Given the description of an element on the screen output the (x, y) to click on. 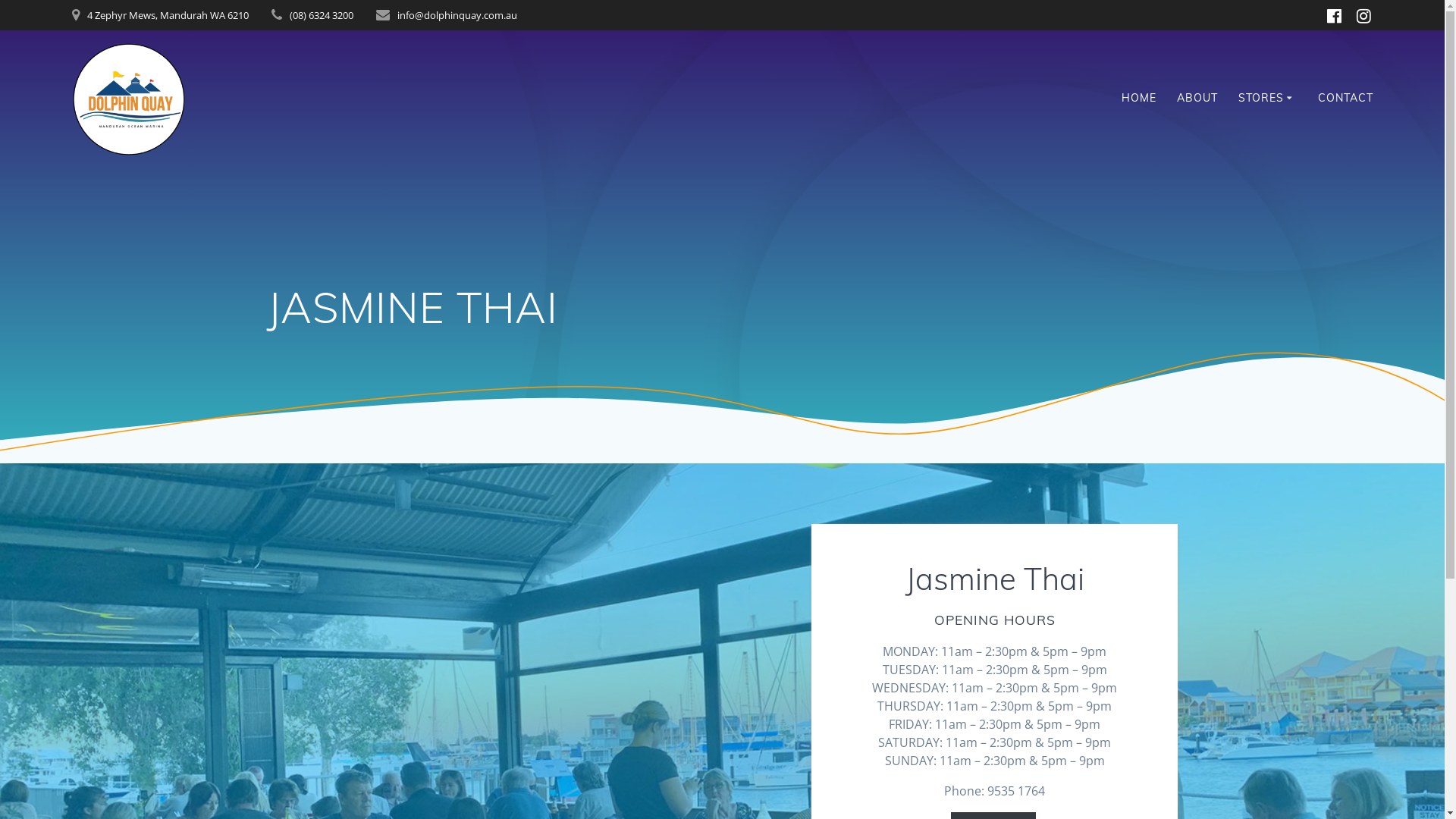
STORES Element type: text (1267, 98)
ABOUT Element type: text (1196, 98)
HOME Element type: text (1138, 98)
CONTACT Element type: text (1345, 98)
